Given the description of an element on the screen output the (x, y) to click on. 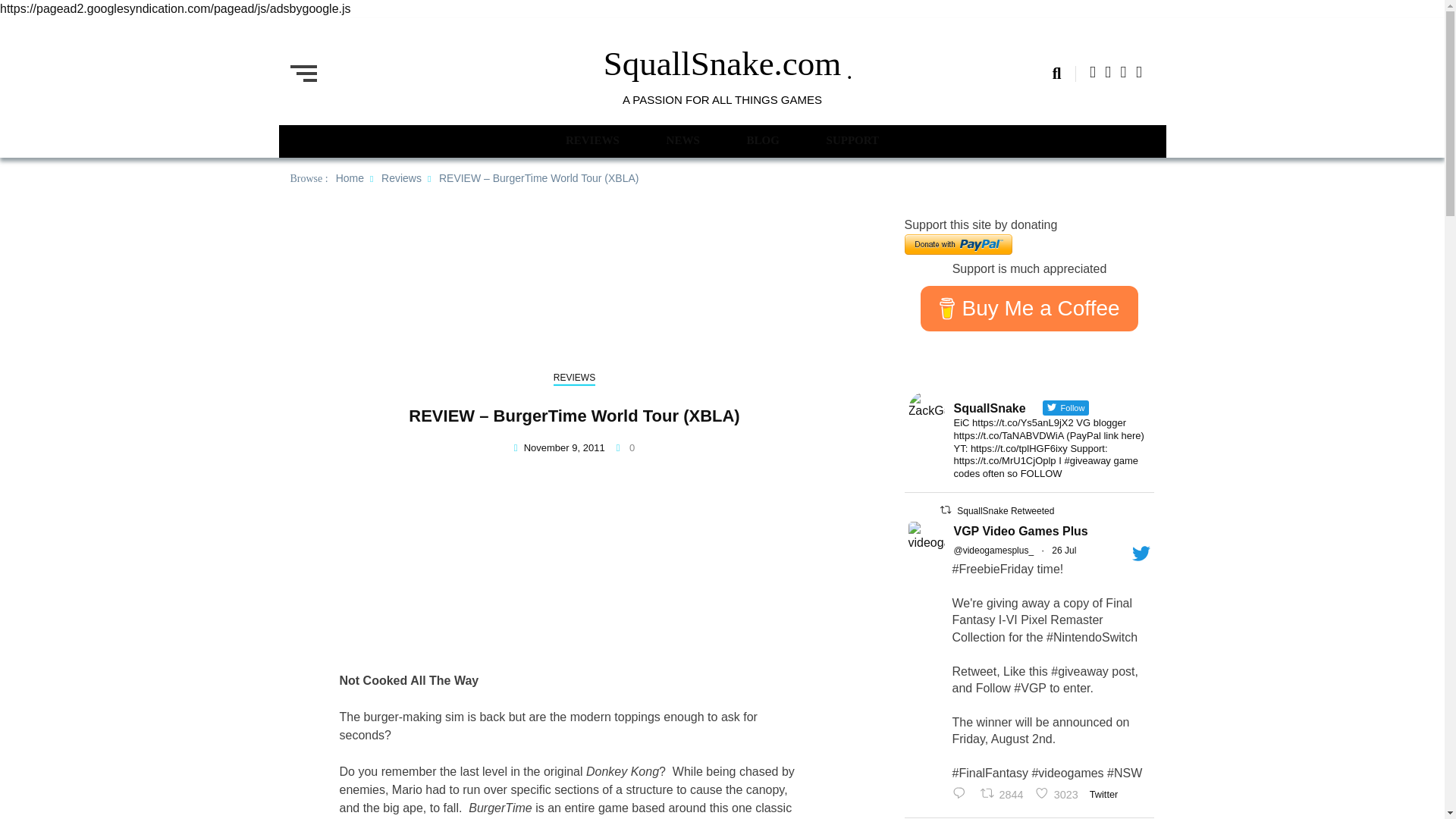
Buy Me a Coffee (1028, 307)
26 Jul (1063, 550)
Retweet on Twitter (945, 509)
SquallSnake Retweeted (1058, 794)
REVIEWS (1005, 511)
SUPPORT (592, 140)
Reviews (852, 140)
Reply on Twitter 1816914554590511590 (401, 177)
Home (1003, 794)
BLOG (961, 794)
SquallSnake.com (350, 177)
NEWS (762, 140)
VGP Video Games Plus (722, 63)
